Given the description of an element on the screen output the (x, y) to click on. 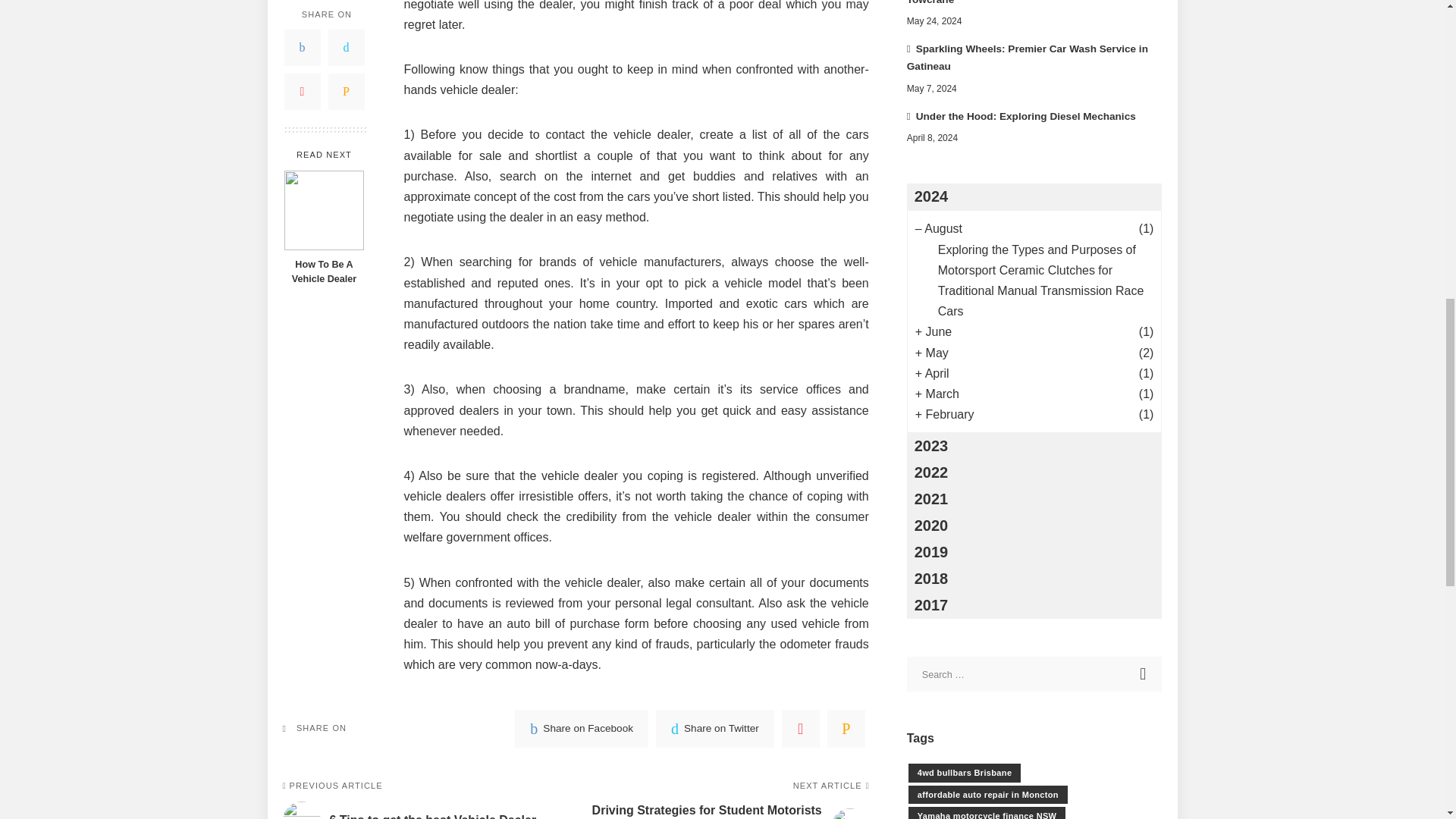
How To Be A Vehicle Dealer (323, 175)
Search (1143, 673)
Share on Twitter (715, 728)
How To Be A Vehicle Dealer (323, 113)
How To Be A Vehicle Dealer (323, 175)
Email (345, 6)
Pinterest (301, 6)
Share on Facebook (581, 728)
Search (1143, 673)
